Given the description of an element on the screen output the (x, y) to click on. 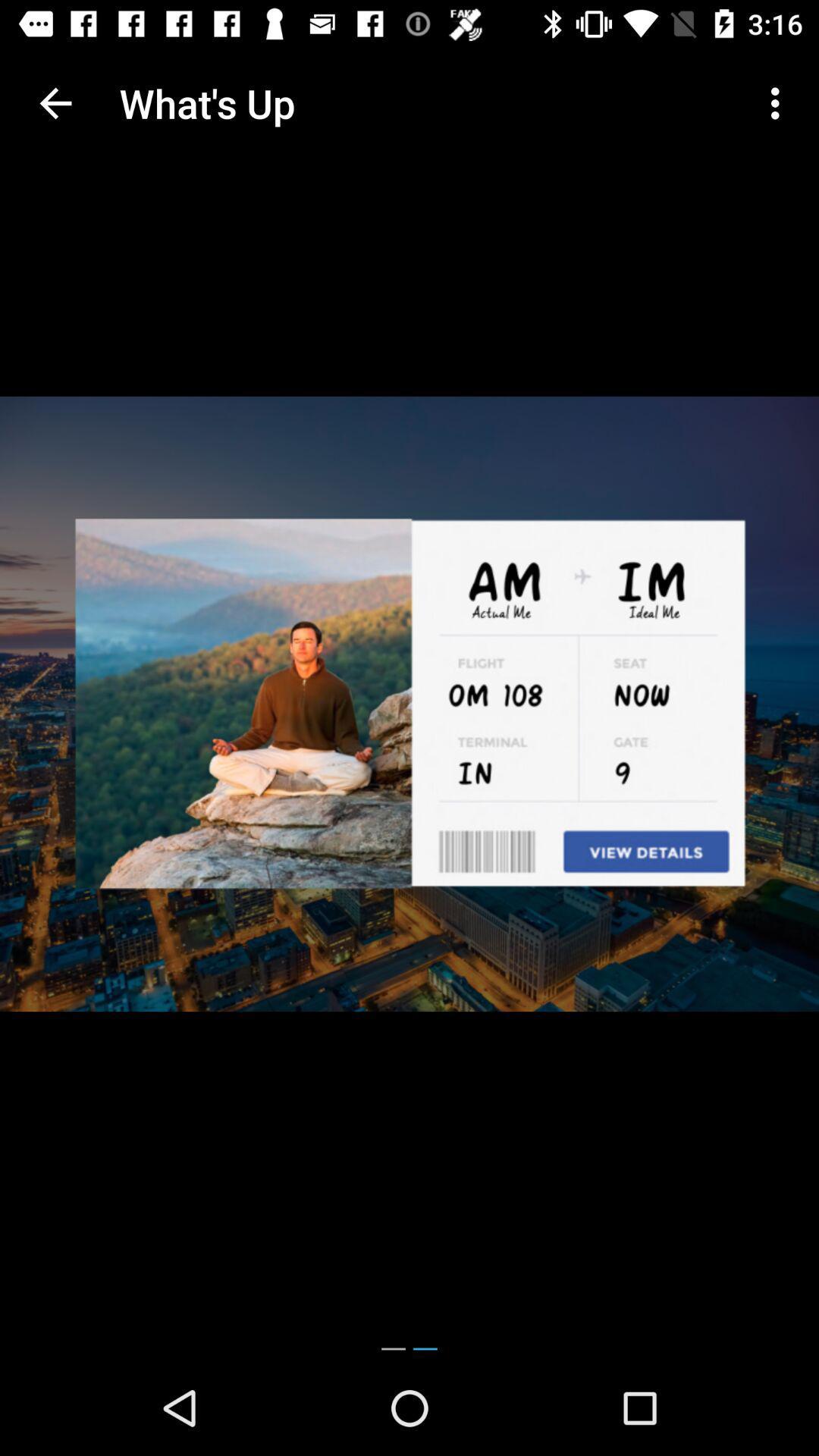
tap the item at the top right corner (779, 103)
